Given the description of an element on the screen output the (x, y) to click on. 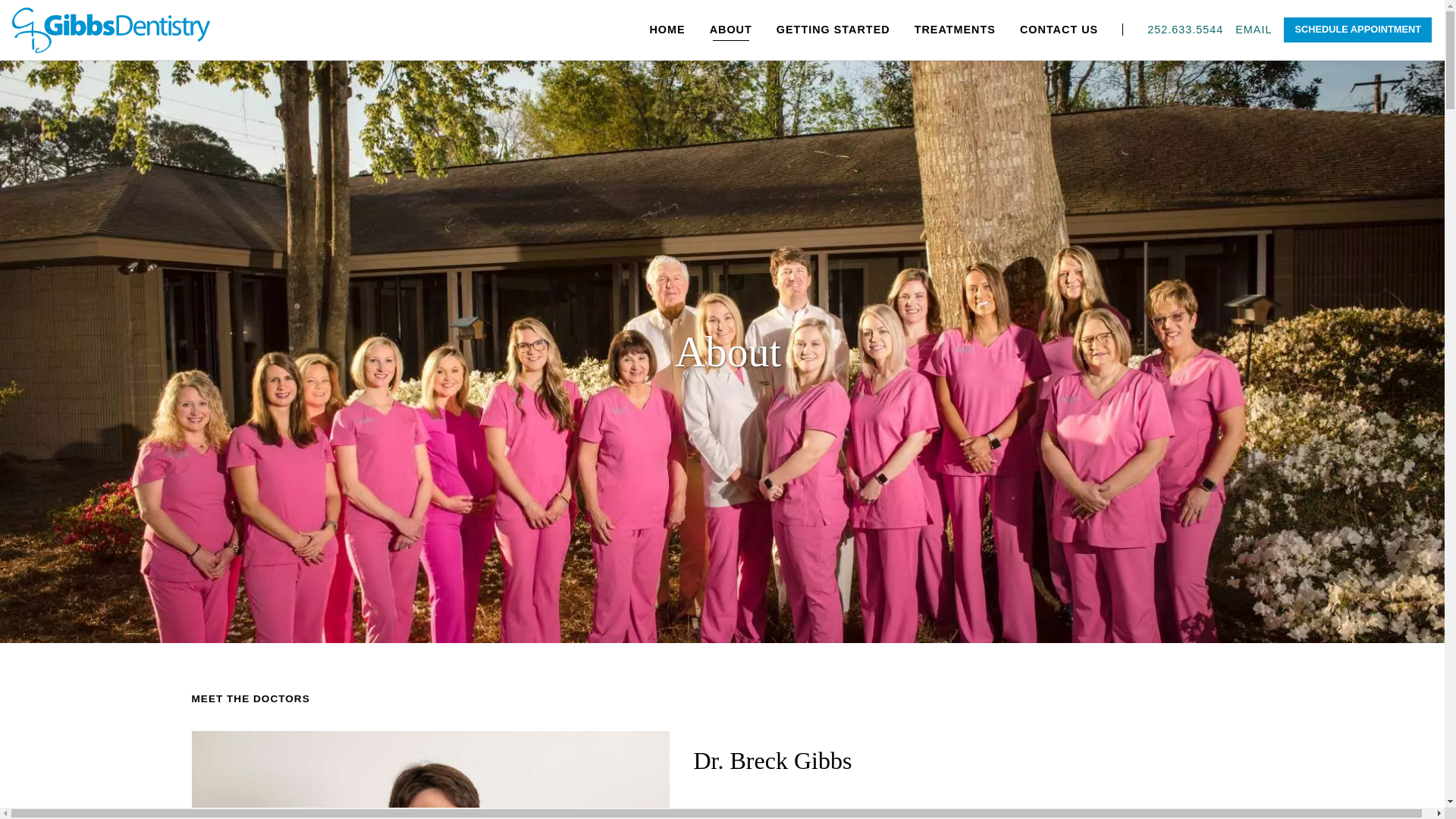
ABOUT (731, 29)
TREATMENTS (954, 29)
EMAIL (1252, 29)
logo (110, 30)
SCHEDULE APPOINTMENT (1357, 30)
HOME (666, 29)
CONTACT US (1058, 29)
GETTING STARTED (832, 29)
252.633.5544 (1185, 29)
